Given the description of an element on the screen output the (x, y) to click on. 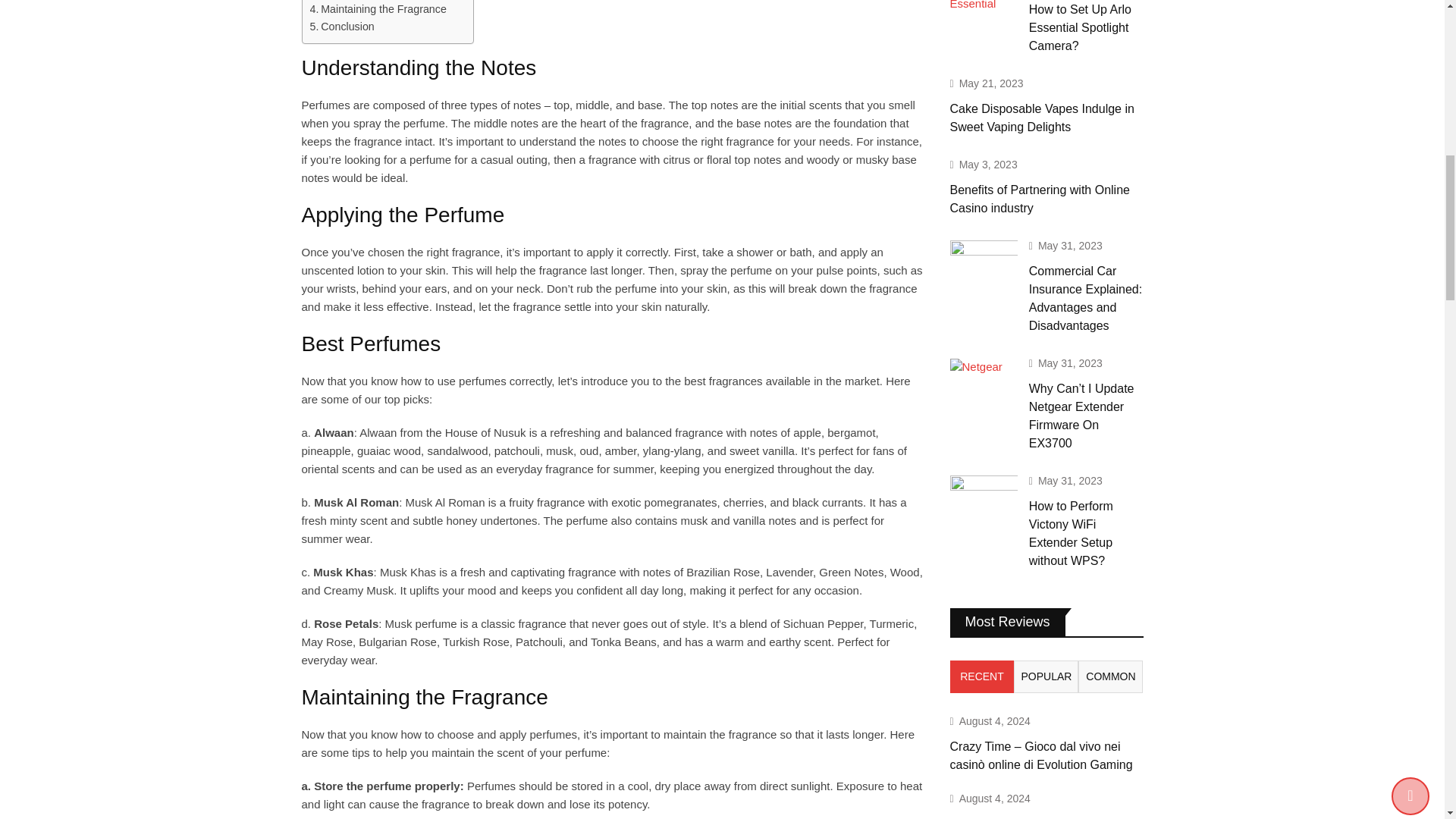
Maintaining the Fragrance (376, 9)
How to Set Up Arlo Essential Spotlight Camera? (982, 6)
Conclusion (341, 27)
